Given the description of an element on the screen output the (x, y) to click on. 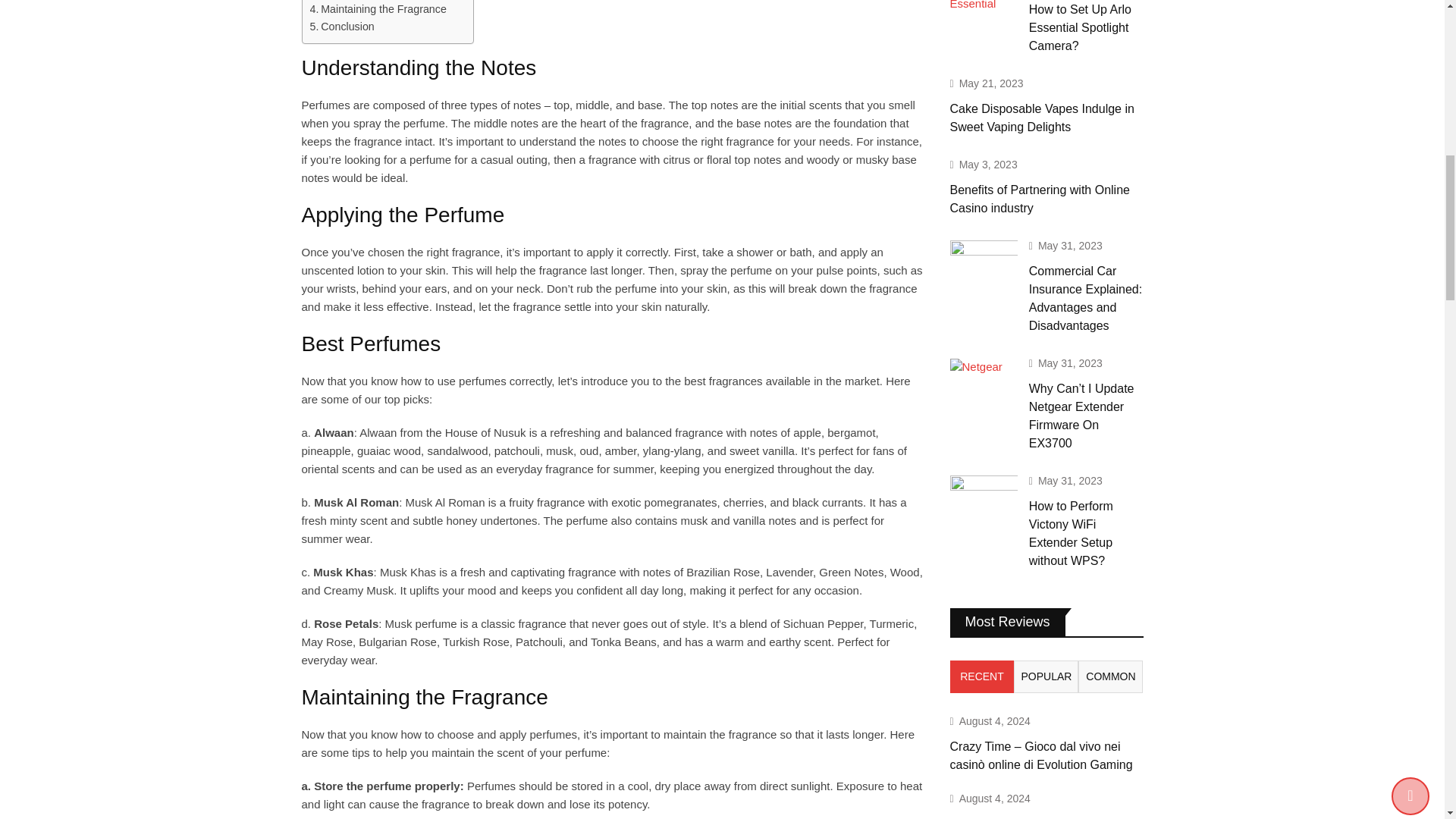
Maintaining the Fragrance (376, 9)
How to Set Up Arlo Essential Spotlight Camera? (982, 6)
Conclusion (341, 27)
